Given the description of an element on the screen output the (x, y) to click on. 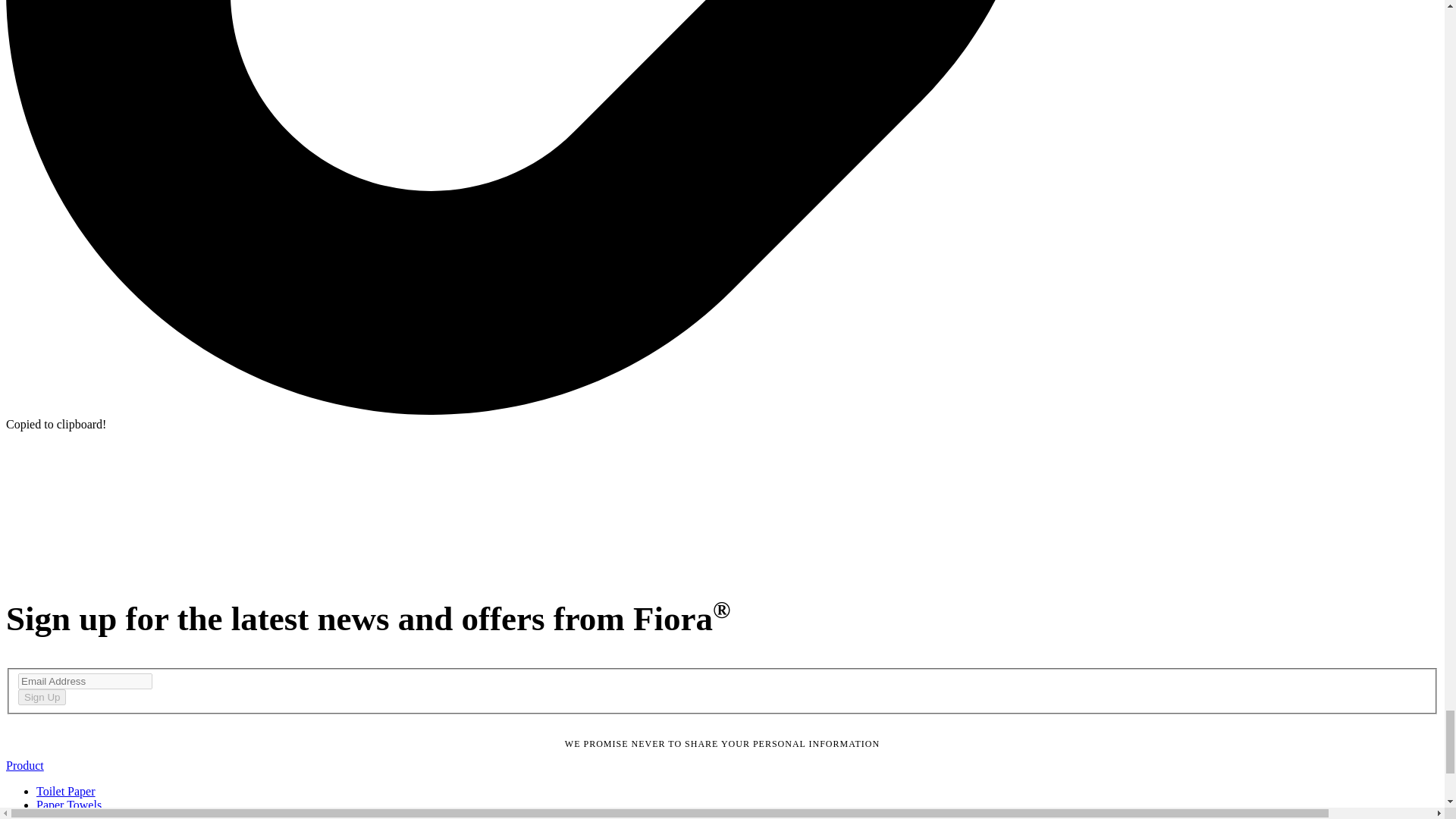
Product (24, 765)
Sign Up (41, 697)
Sign Up (41, 697)
Toilet Paper (66, 790)
Paper Towels (68, 804)
Facial Tissue (68, 815)
